Given the description of an element on the screen output the (x, y) to click on. 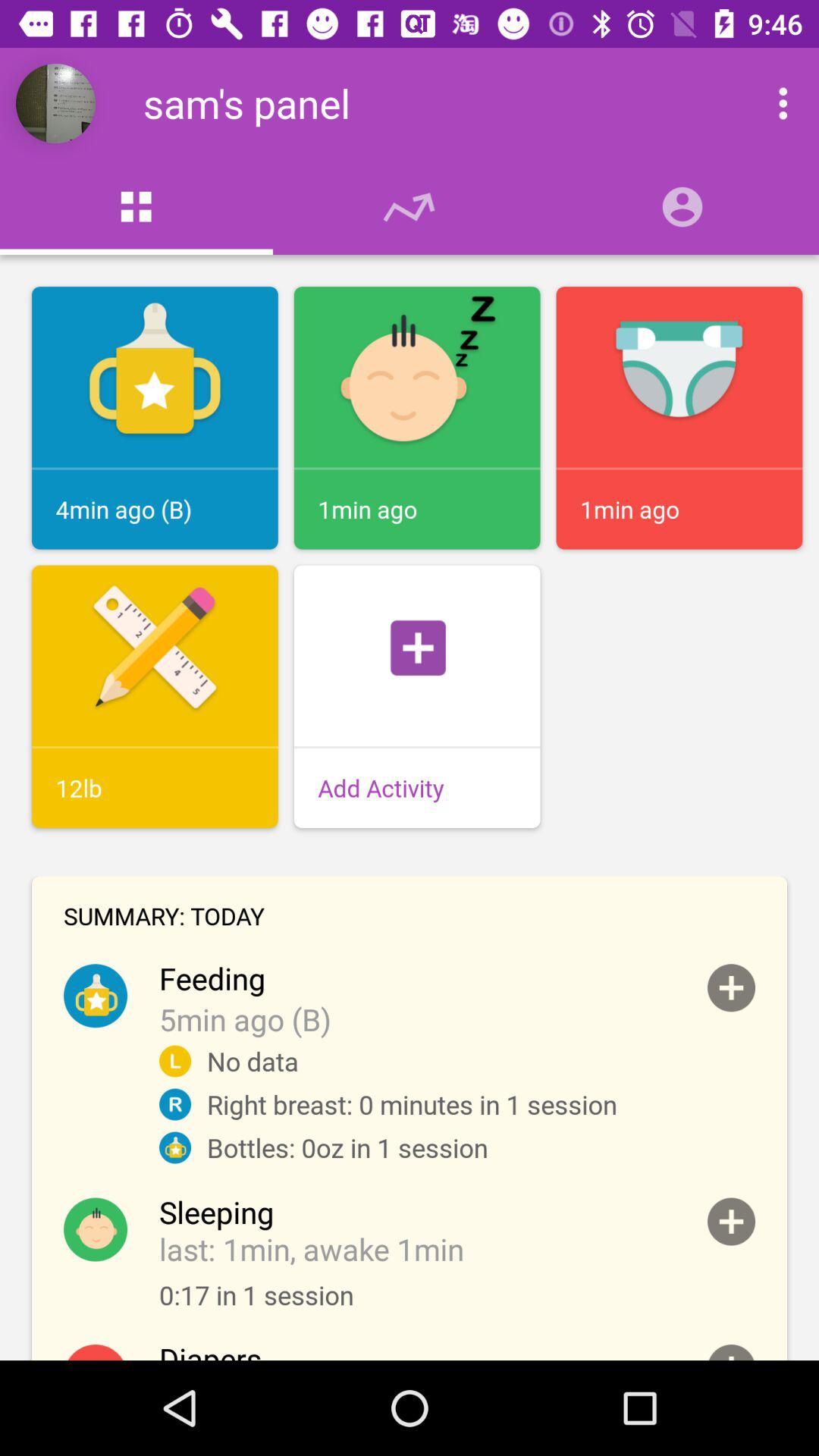
click add option (731, 987)
